Given the description of an element on the screen output the (x, y) to click on. 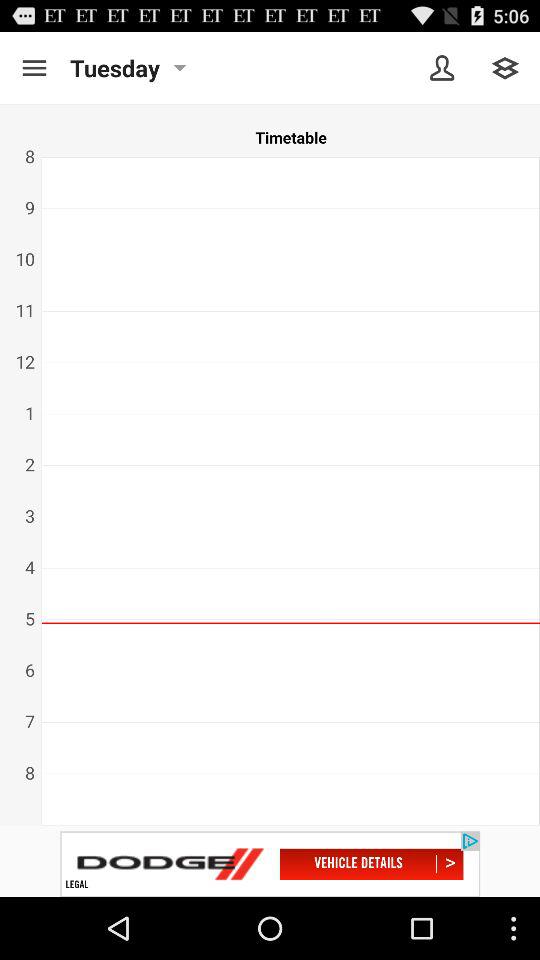
menu pega (34, 68)
